Given the description of an element on the screen output the (x, y) to click on. 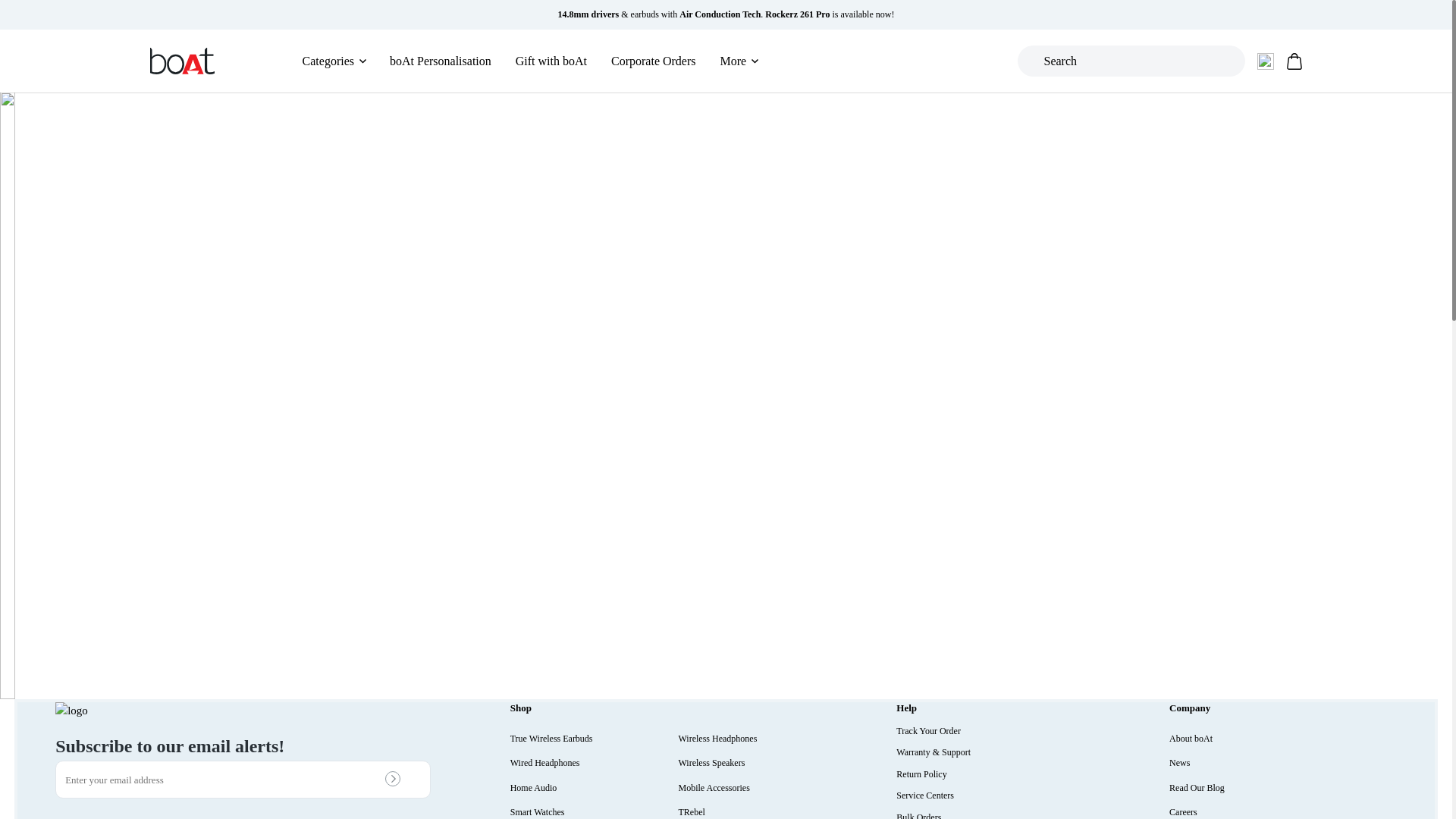
Gift with boAt (550, 61)
boAt Lifestyle (181, 60)
More (739, 61)
boAt Personalisation (441, 61)
Categories (333, 61)
Corporate Orders (653, 61)
